Given the description of an element on the screen output the (x, y) to click on. 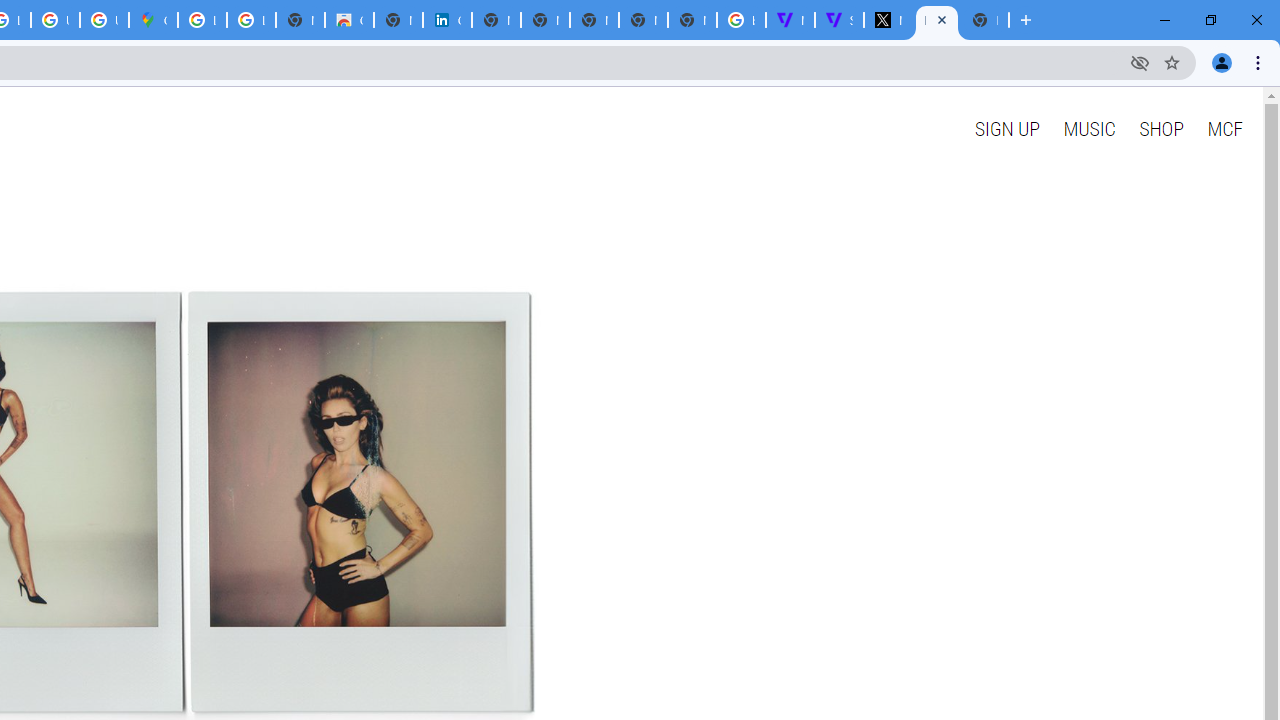
Google Maps (153, 20)
MCF (1224, 128)
New Tab (984, 20)
Streaming - The Verge (839, 20)
Chrome Web Store (349, 20)
Cookie Policy | LinkedIn (447, 20)
